Given the description of an element on the screen output the (x, y) to click on. 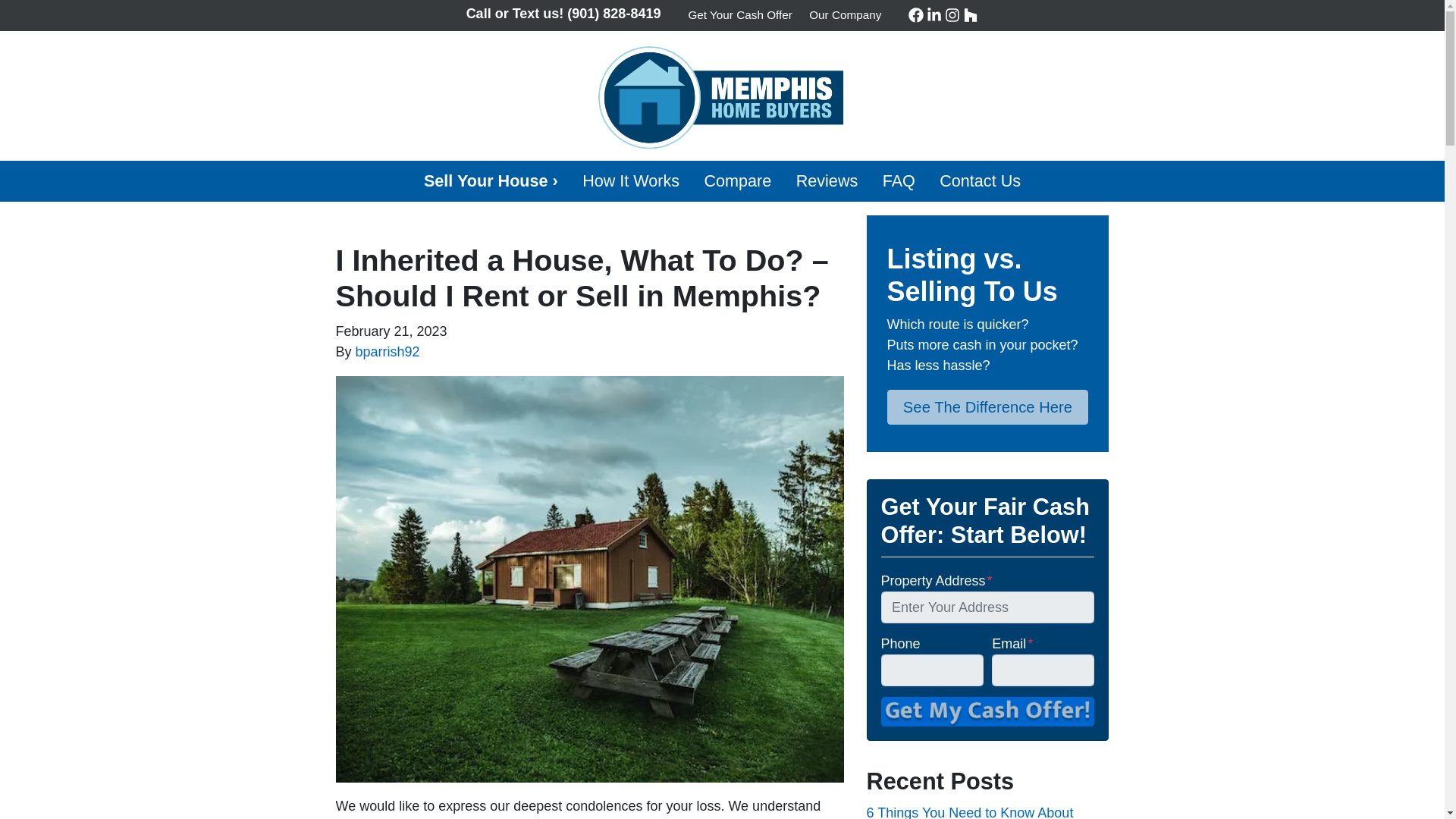
bparrish92 (387, 351)
Our Company (845, 15)
LinkedIn (934, 14)
Houzz (970, 14)
How It Works (630, 180)
Contact Us (979, 180)
Compare (737, 180)
Instagram (951, 14)
FAQ (898, 180)
Contact Us (979, 180)
See The Difference Here (987, 407)
FAQ (898, 180)
How It Works (630, 180)
Reviews (826, 180)
